Given the description of an element on the screen output the (x, y) to click on. 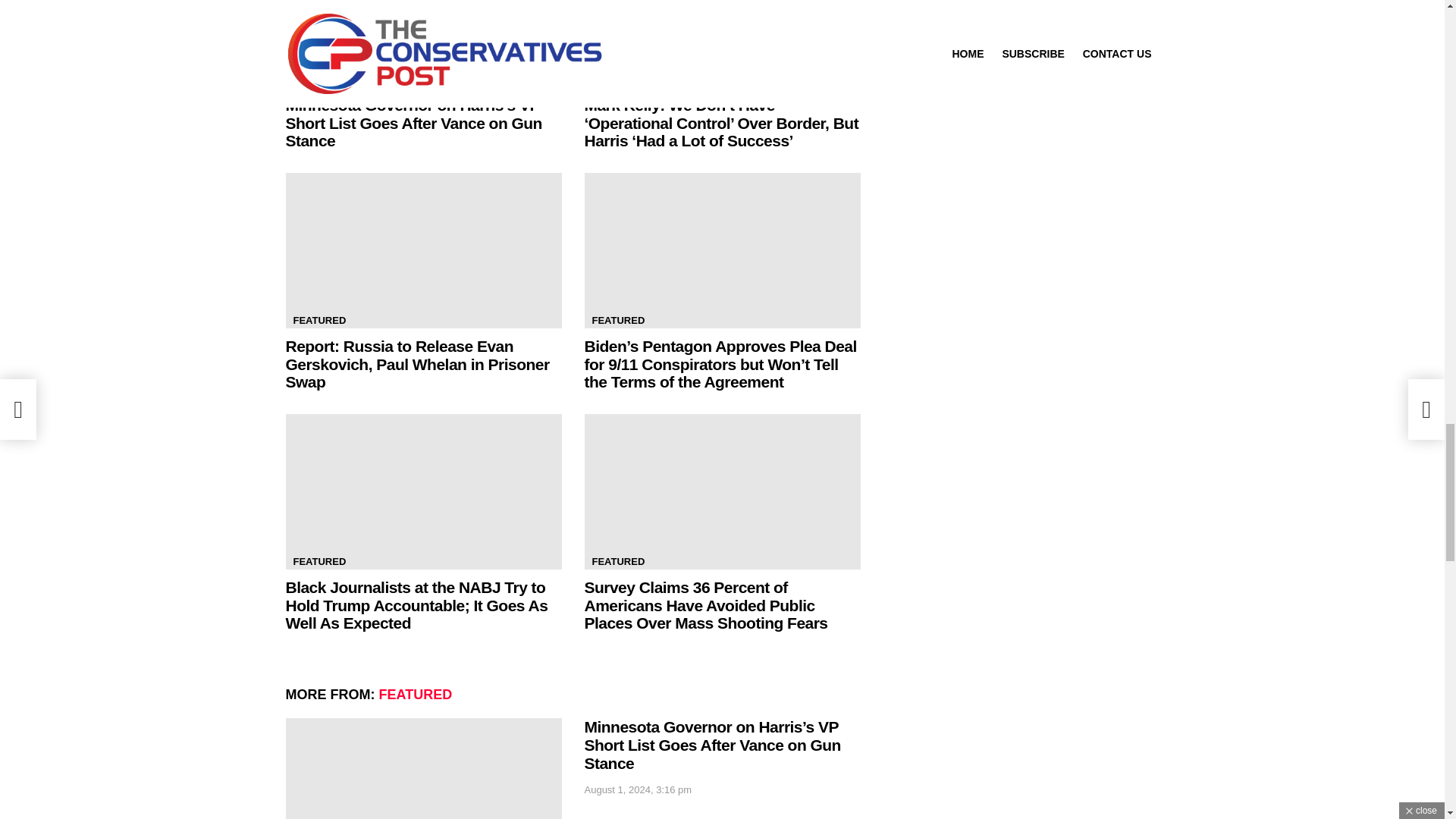
FEATURED (319, 79)
FEATURED (617, 79)
FEATURED (617, 320)
FEATURED (319, 320)
